Given the description of an element on the screen output the (x, y) to click on. 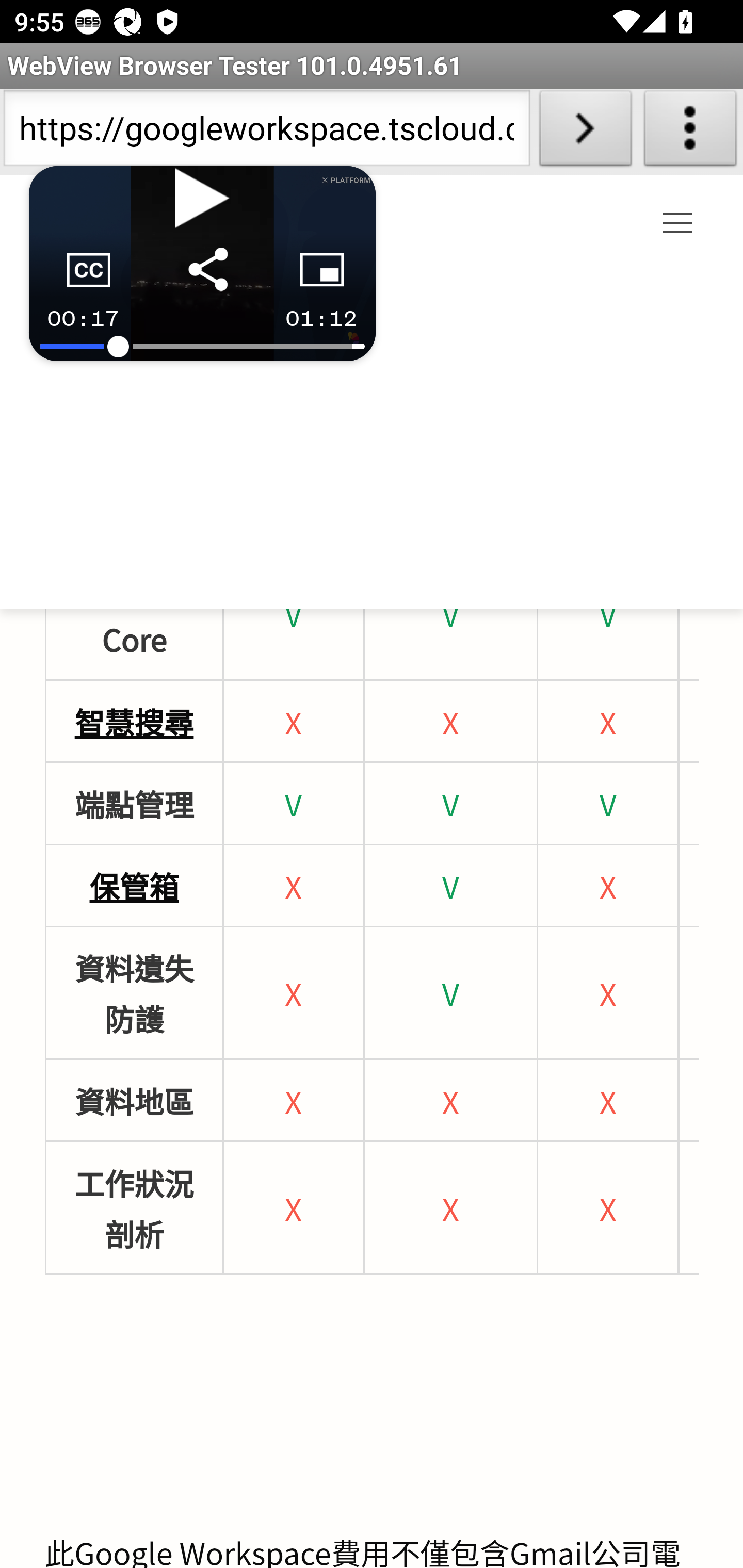
Load URL (585, 132)
About WebView (690, 132)
javascript:void(0) (677, 223)
智慧搜尋 (133, 721)
保管箱 (134, 885)
